Given the description of an element on the screen output the (x, y) to click on. 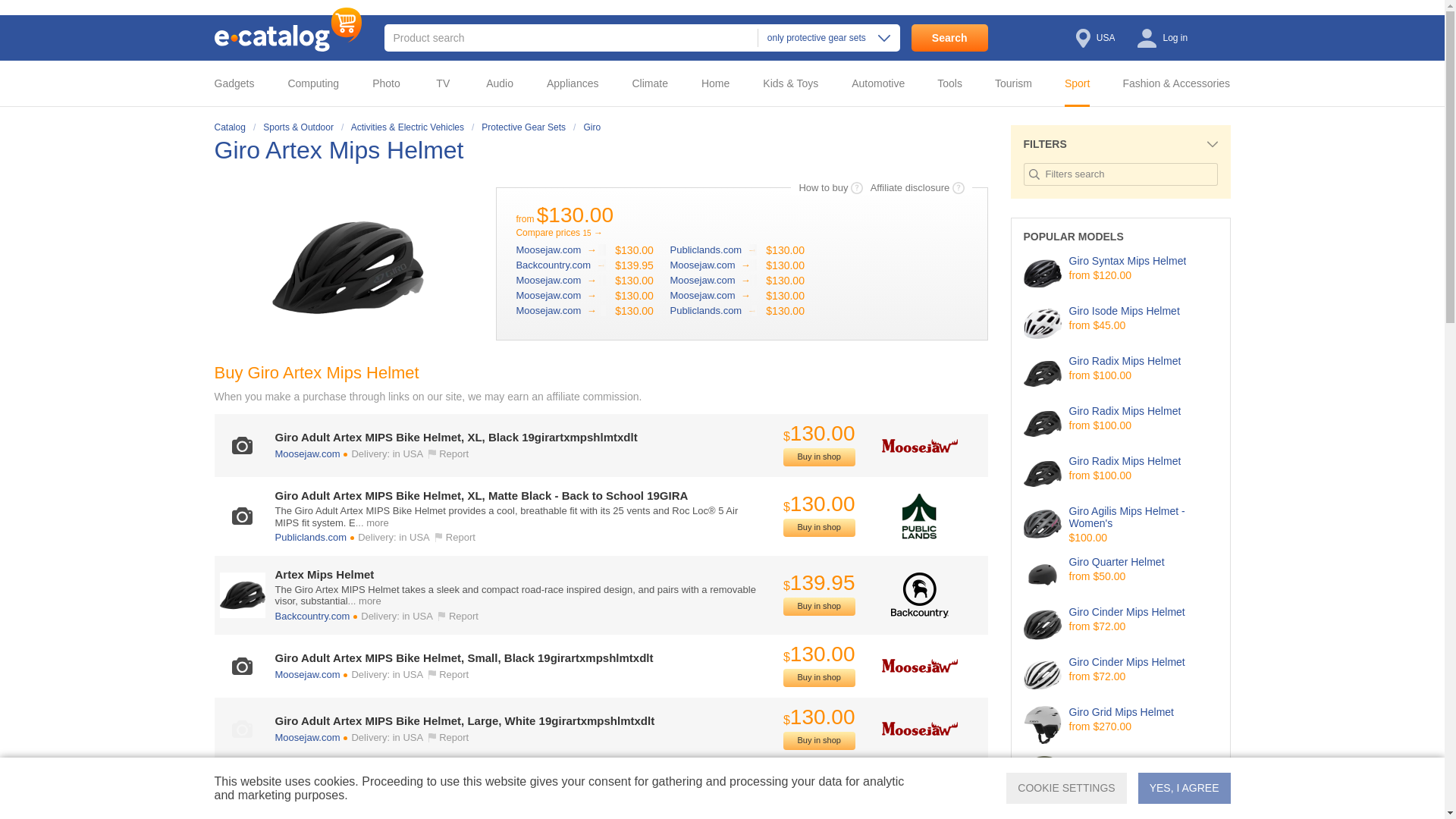
Photo (391, 83)
Computing (318, 83)
E-Catalog (287, 29)
Protective Gear Set Giro Artex Mips Helmet (342, 149)
Increase (347, 267)
Share Page (972, 150)
